Given the description of an element on the screen output the (x, y) to click on. 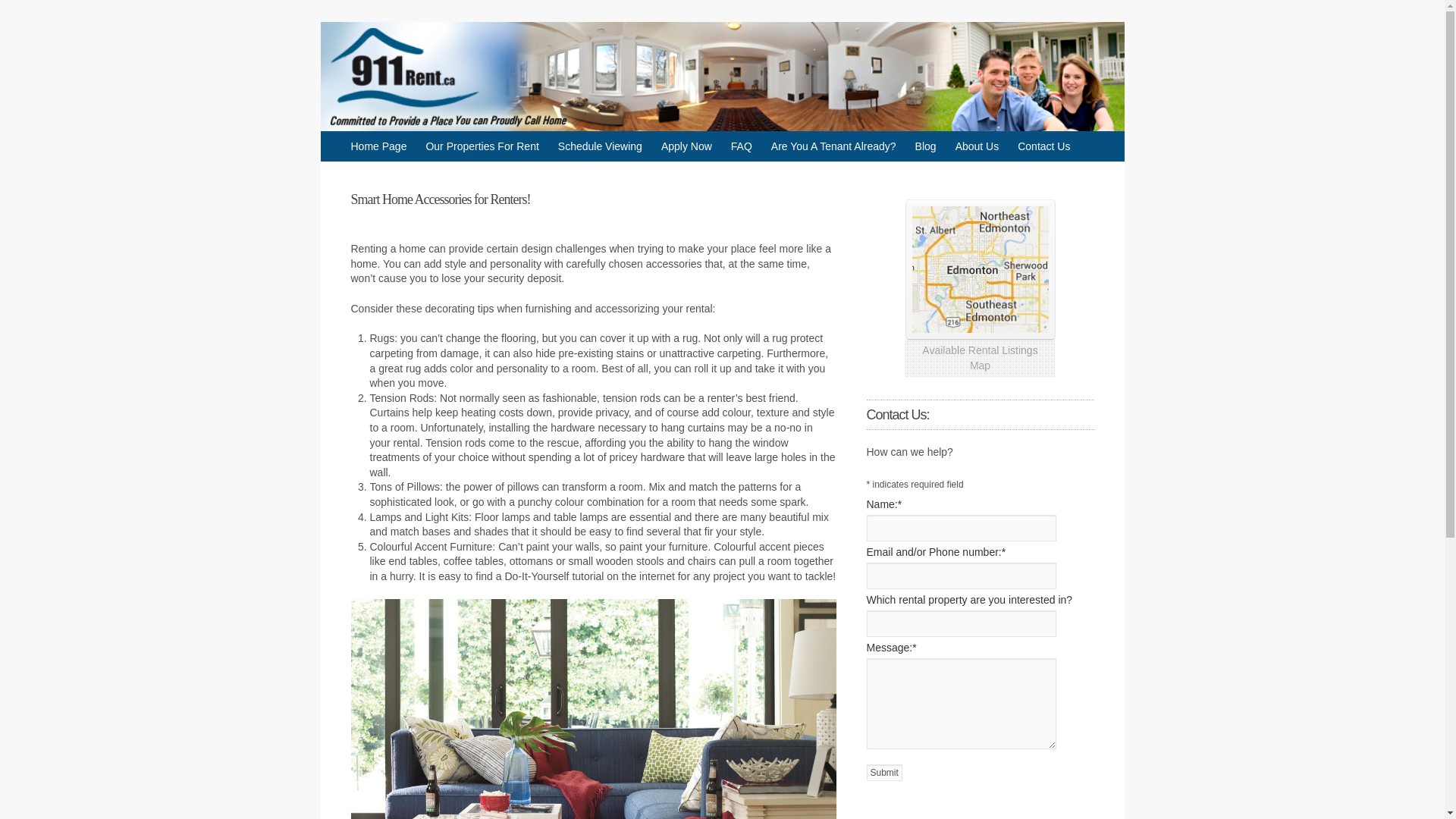
Our Properties For Rent (481, 146)
About Us (976, 146)
Submit (883, 772)
Are You A Tenant Already? (833, 146)
Submit (883, 772)
Apply Now (686, 146)
Schedule Viewing (599, 146)
Contact Us (1043, 146)
Home Page (378, 146)
